Given the description of an element on the screen output the (x, y) to click on. 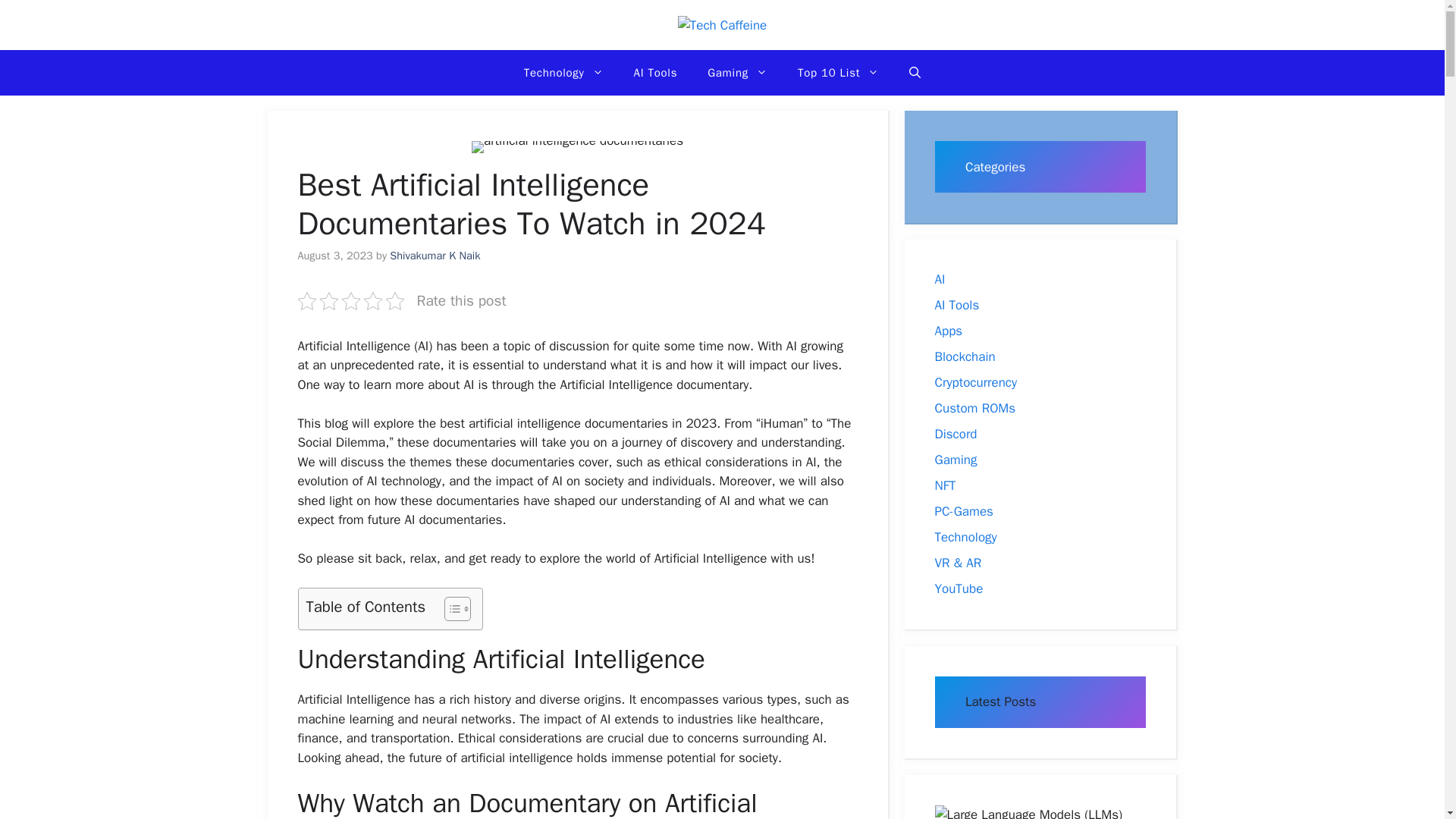
Technology (563, 72)
View all posts by Shivakumar K Naik (435, 255)
Gaming (738, 72)
AI Tools (655, 72)
Shivakumar K Naik (435, 255)
Top 10 List (838, 72)
